Given the description of an element on the screen output the (x, y) to click on. 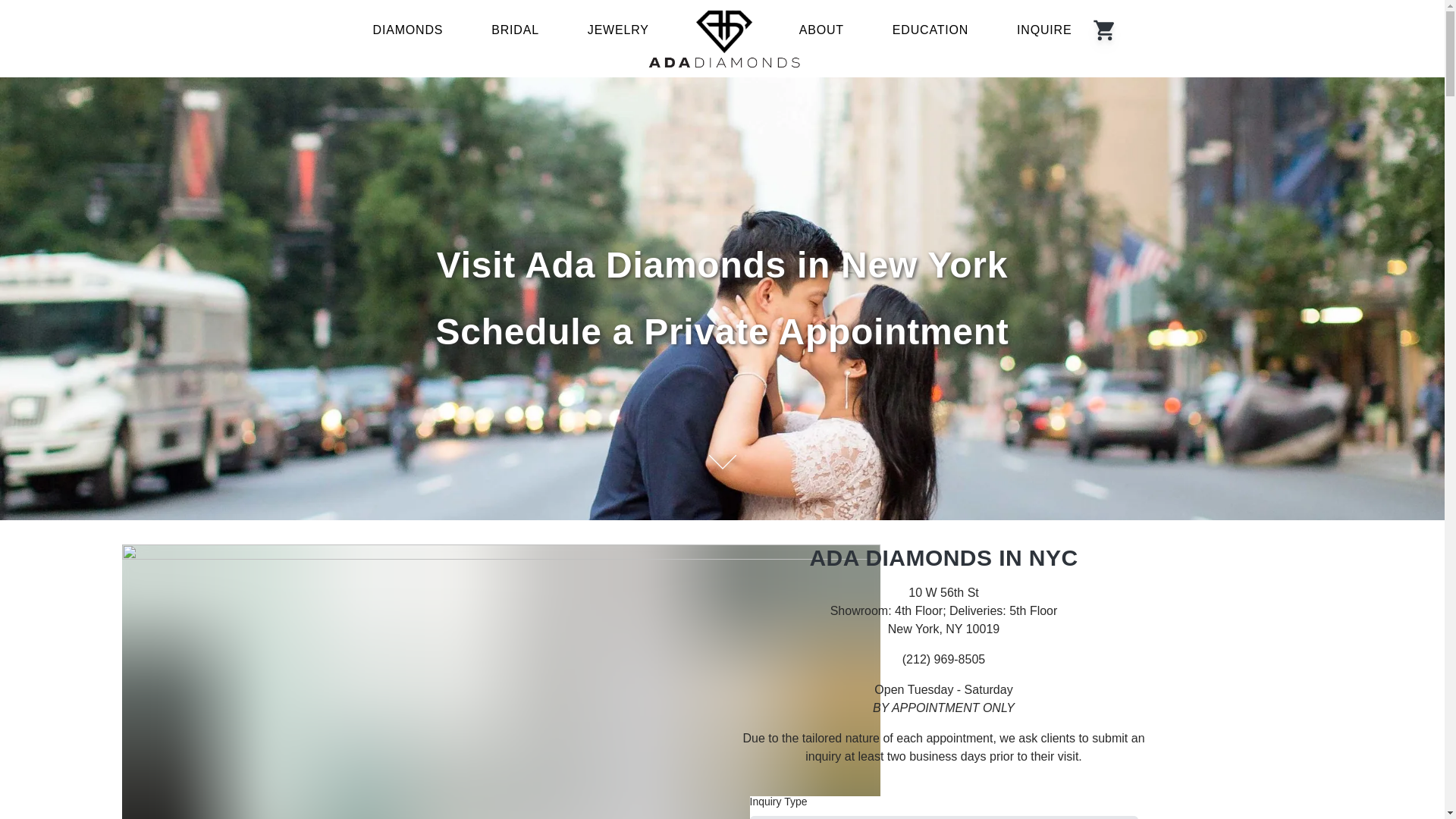
JEWELRY (943, 817)
DIAMONDS (1020, 817)
ABOUT (1098, 817)
BRIDAL (618, 30)
EDUCATION (866, 817)
INQUIRE (408, 30)
